Given the description of an element on the screen output the (x, y) to click on. 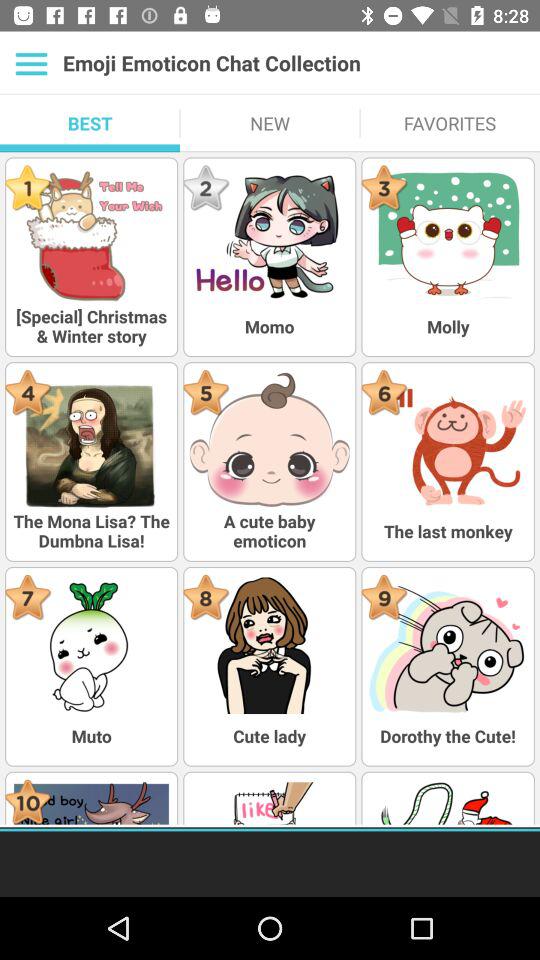
click the icon next to emoji emoticon chat (31, 63)
